Given the description of an element on the screen output the (x, y) to click on. 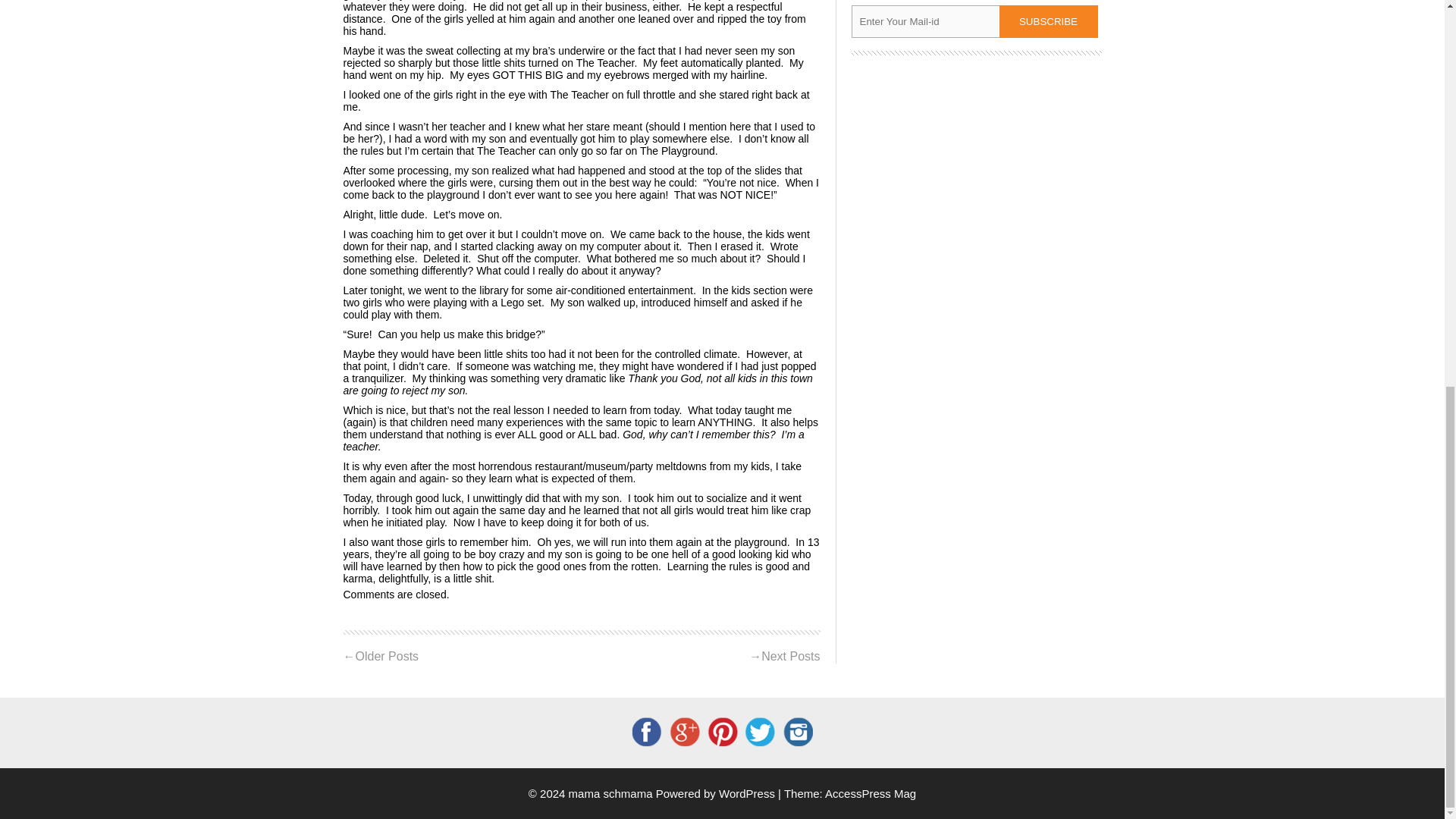
Subscribe (1047, 20)
